Given the description of an element on the screen output the (x, y) to click on. 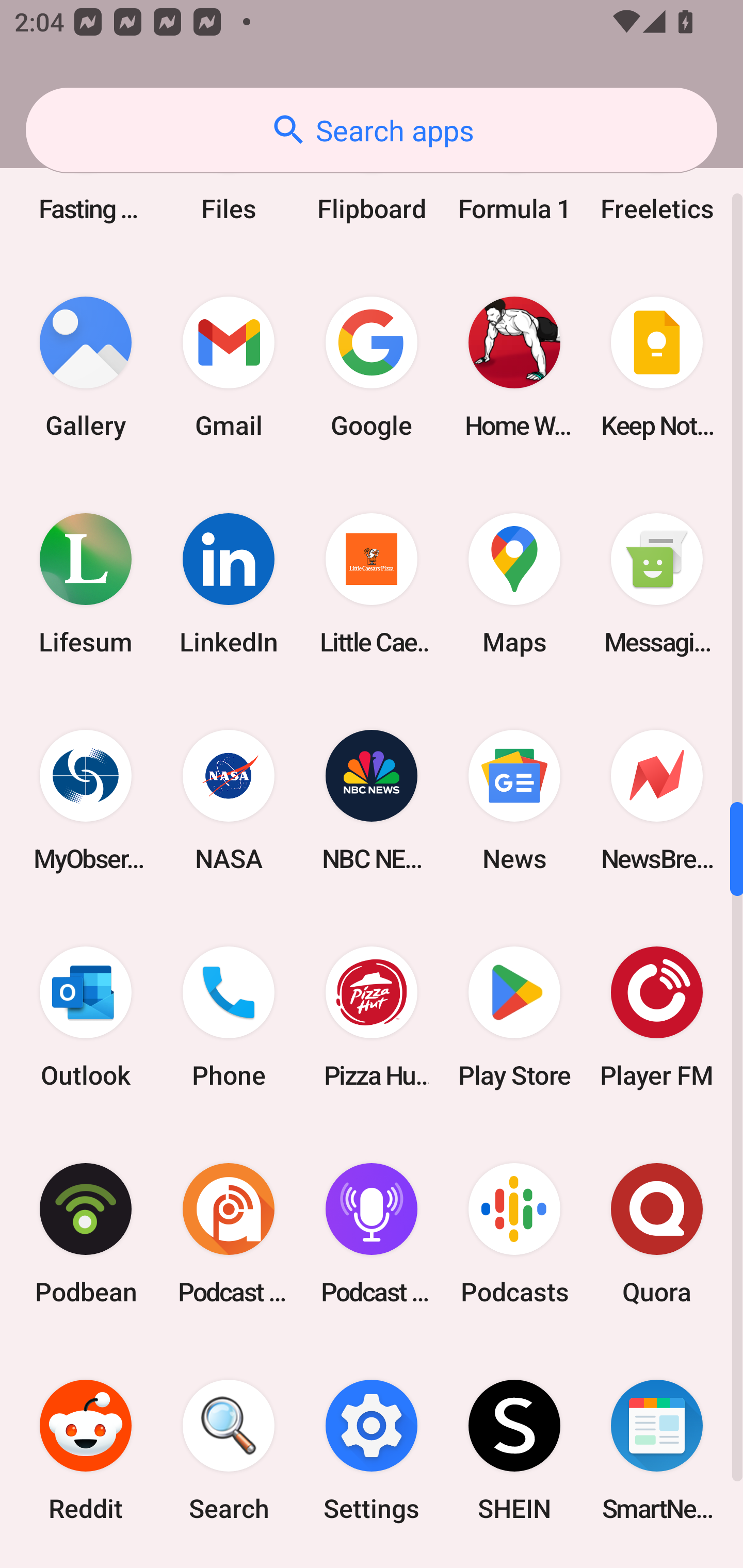
  Search apps (371, 130)
Gallery (85, 366)
Gmail (228, 366)
Google (371, 366)
Home Workout (514, 366)
Keep Notes (656, 366)
Lifesum (85, 583)
LinkedIn (228, 583)
Little Caesars Pizza (371, 583)
Maps (514, 583)
Messaging (656, 583)
MyObservatory (85, 800)
NASA (228, 800)
NBC NEWS (371, 800)
News (514, 800)
NewsBreak (656, 800)
Outlook (85, 1017)
Phone (228, 1017)
Pizza Hut HK & Macau (371, 1017)
Play Store (514, 1017)
Player FM (656, 1017)
Podbean (85, 1233)
Podcast Addict (228, 1233)
Podcast Player (371, 1233)
Podcasts (514, 1233)
Quora (656, 1233)
Reddit (85, 1450)
Search (228, 1450)
Settings (371, 1450)
SHEIN (514, 1450)
SmartNews (656, 1450)
